Given the description of an element on the screen output the (x, y) to click on. 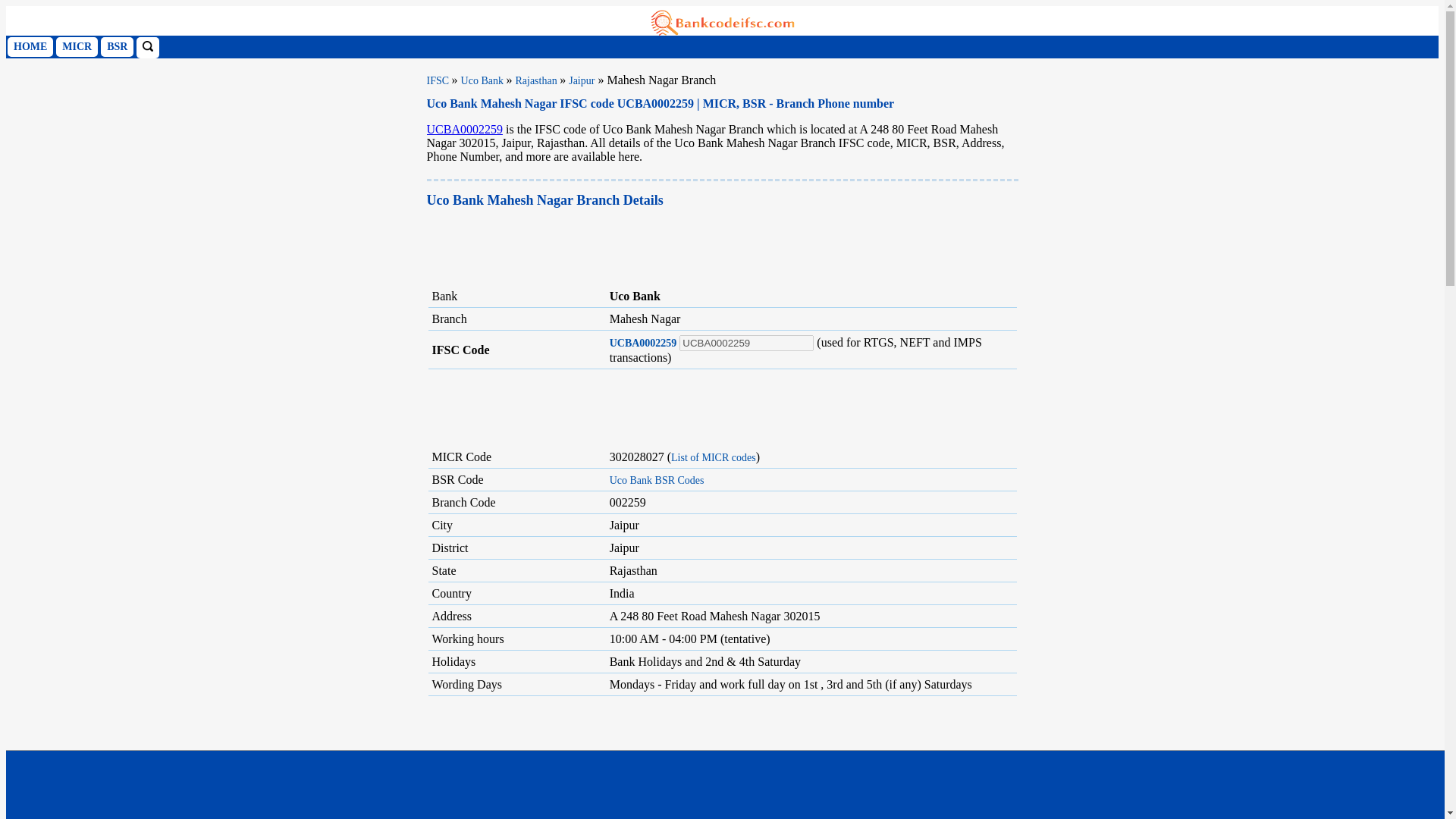
MICR (76, 46)
Uco Bank BSR Codes (657, 480)
UCBA0002259 (464, 128)
HOME (29, 46)
Uco Bank (483, 80)
Jaipur (581, 80)
Rajasthan (537, 80)
BSR (116, 46)
IFSC (438, 80)
UCBA0002259 (643, 342)
